Given the description of an element on the screen output the (x, y) to click on. 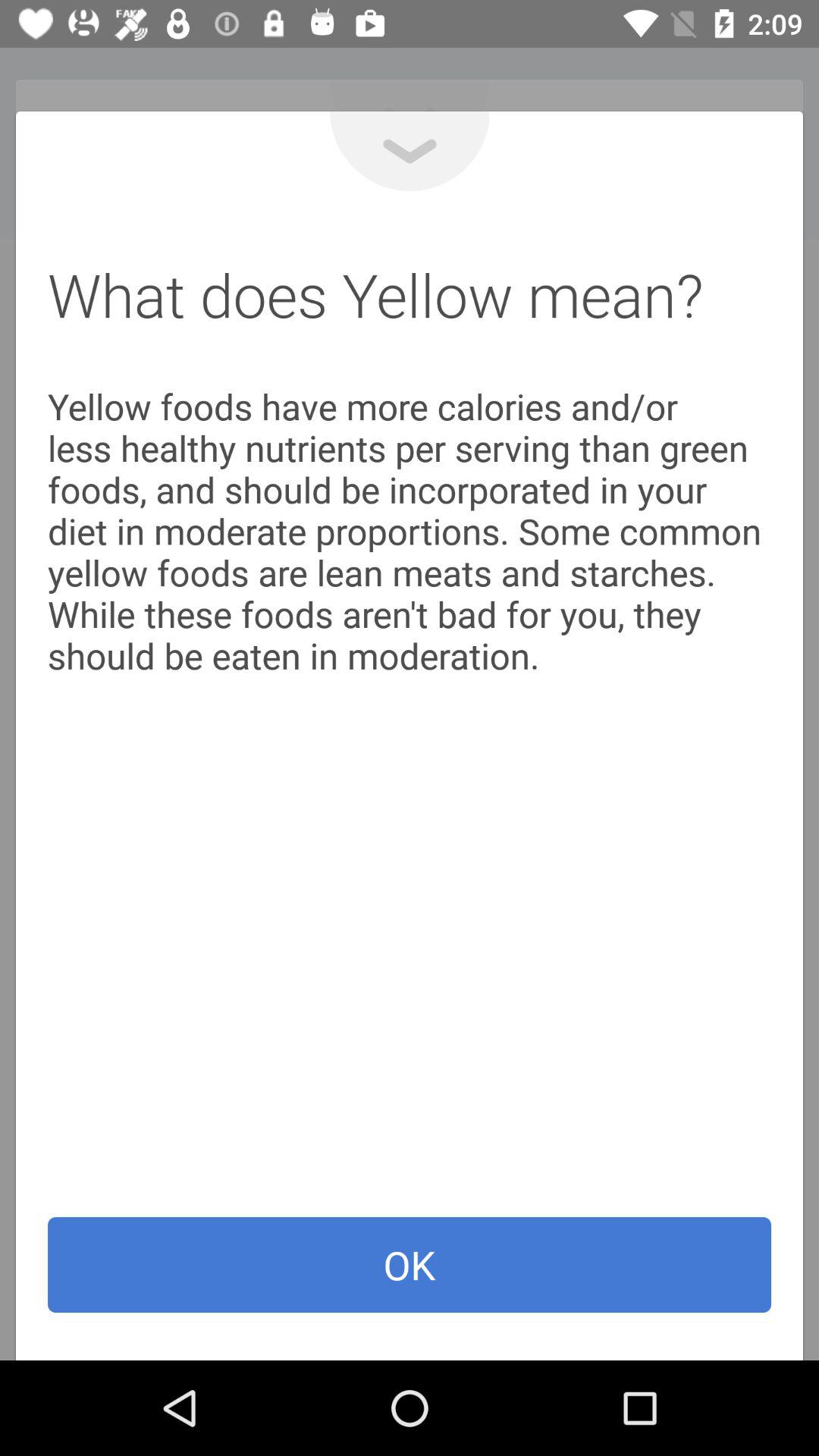
turn off icon above what does yellow (409, 151)
